Given the description of an element on the screen output the (x, y) to click on. 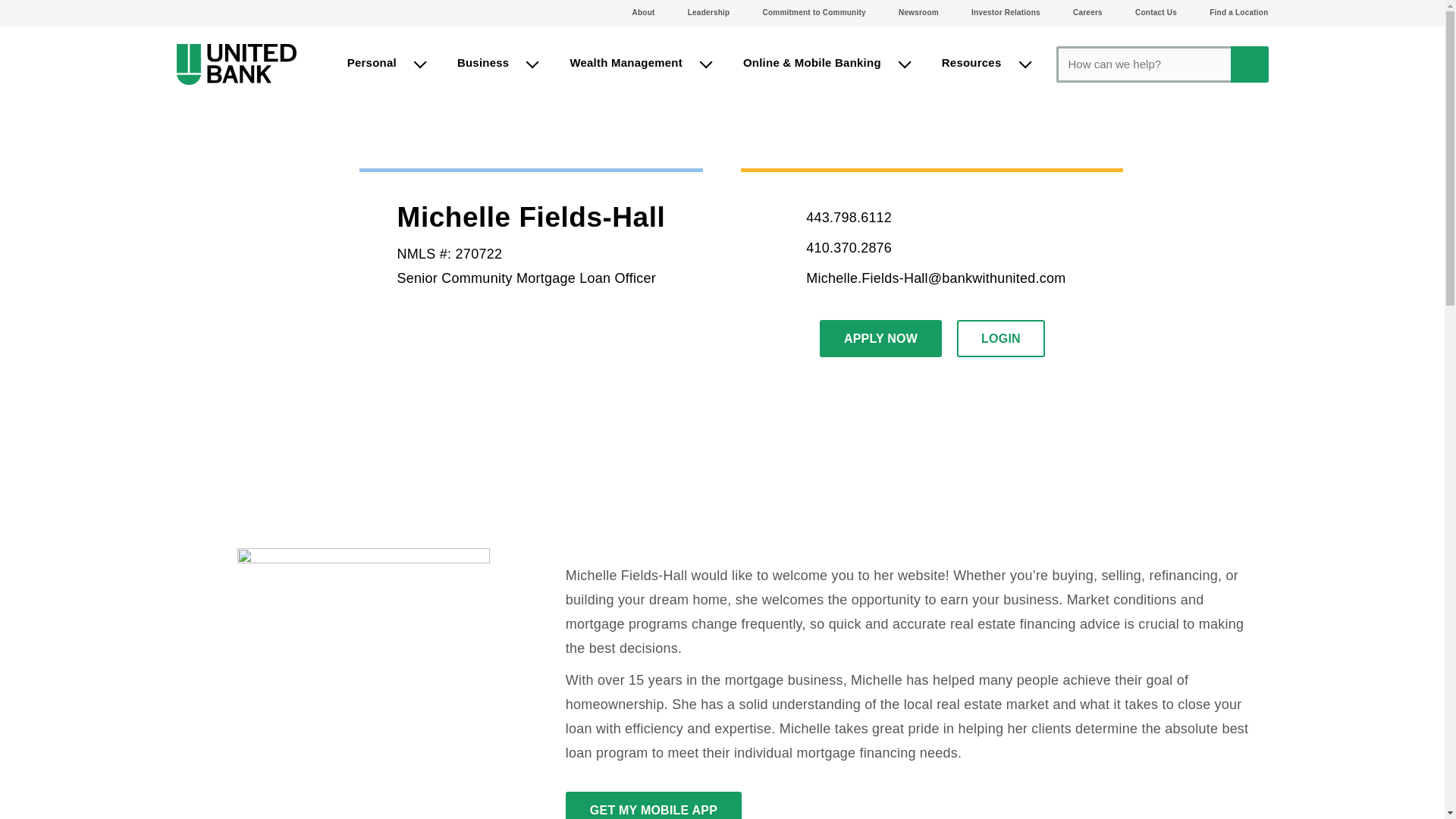
Investor Relations (1006, 12)
Commitment to Community (814, 12)
Contact Us (1155, 12)
Find a Location (1238, 12)
Home (236, 64)
Leadership (708, 12)
Newsroom (918, 12)
Careers (1087, 12)
About (643, 12)
